Given the description of an element on the screen output the (x, y) to click on. 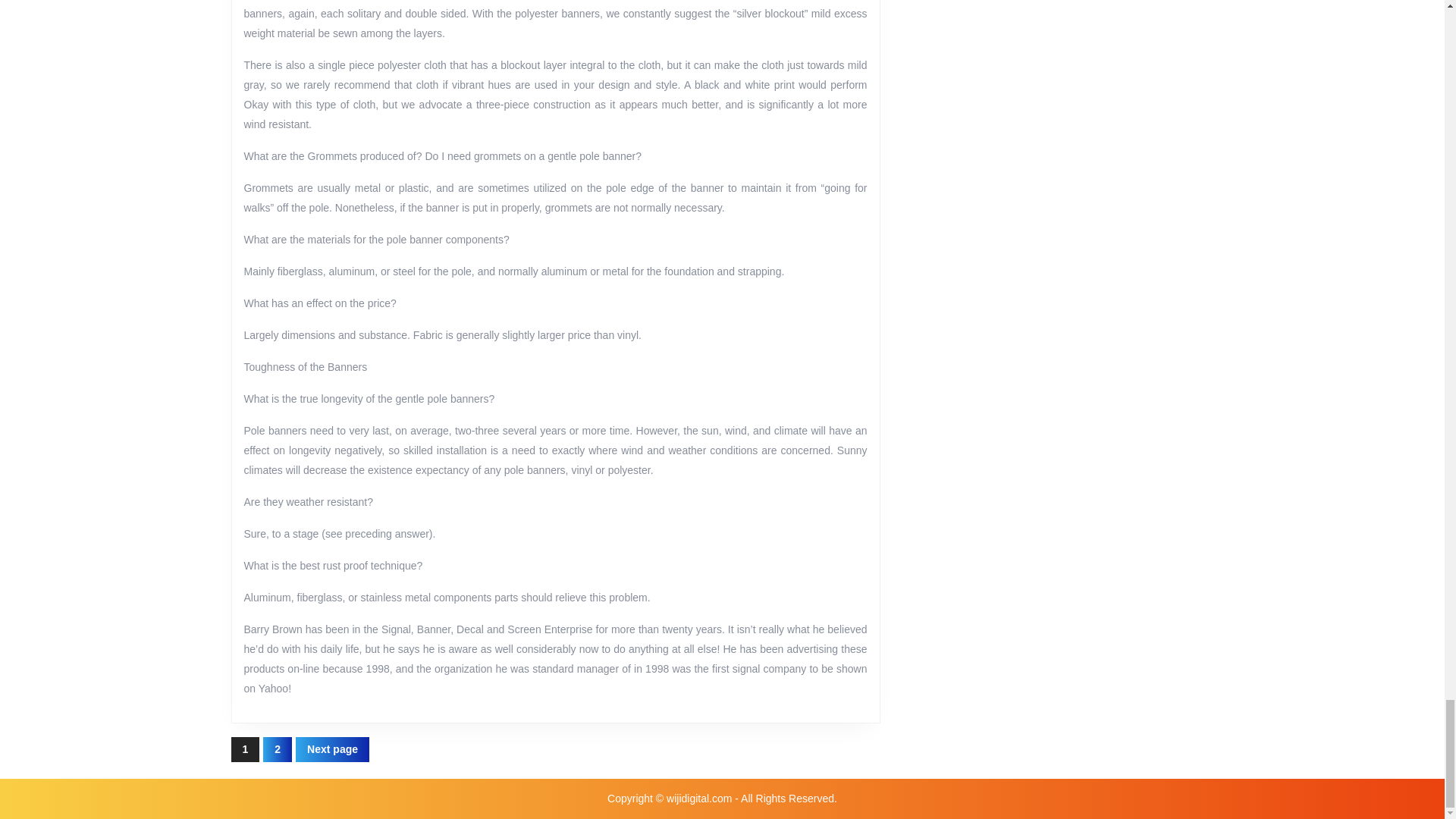
Next page (332, 749)
